Given the description of an element on the screen output the (x, y) to click on. 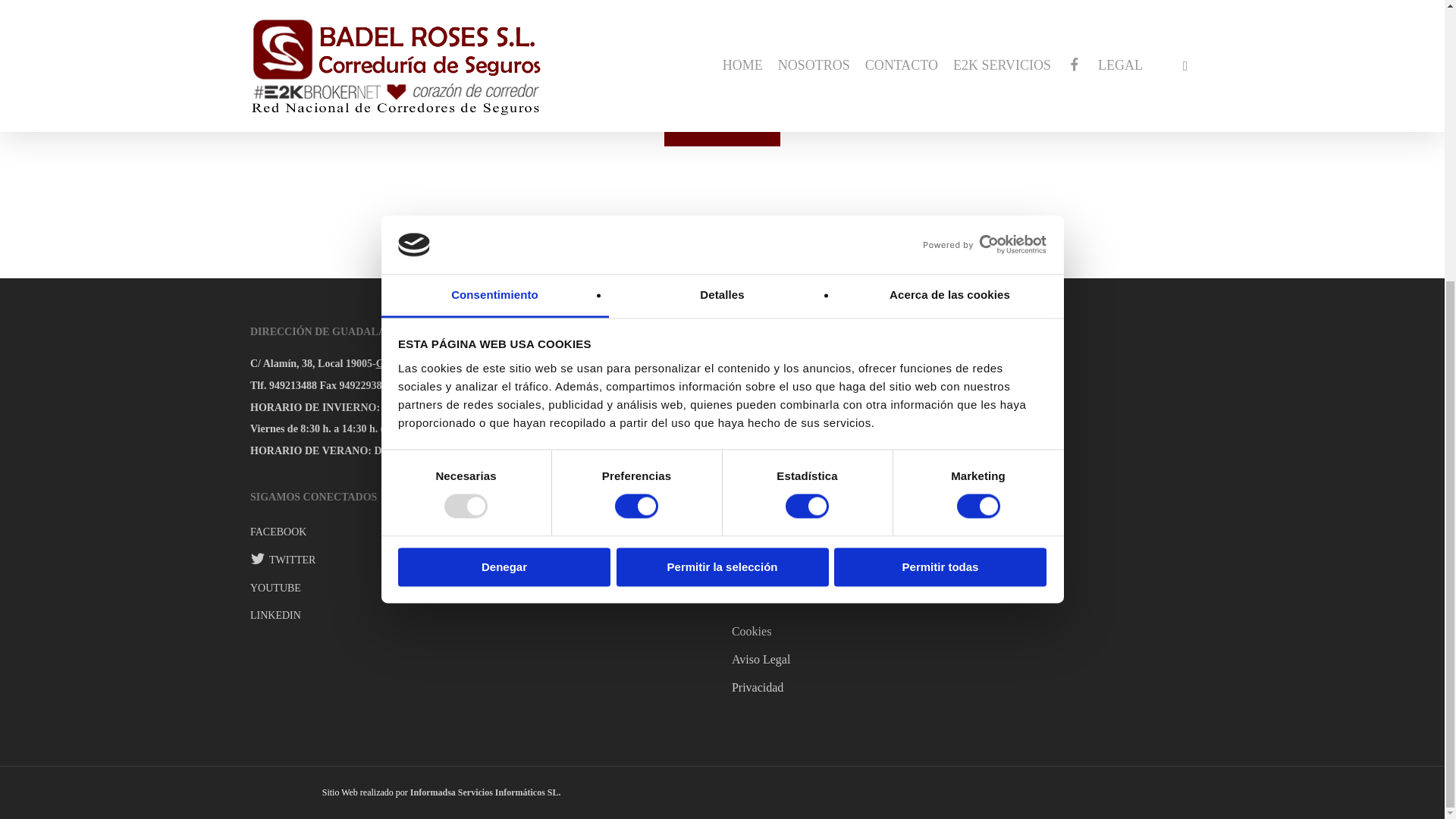
Denegar (503, 146)
Permitir todas (940, 146)
